Given the description of an element on the screen output the (x, y) to click on. 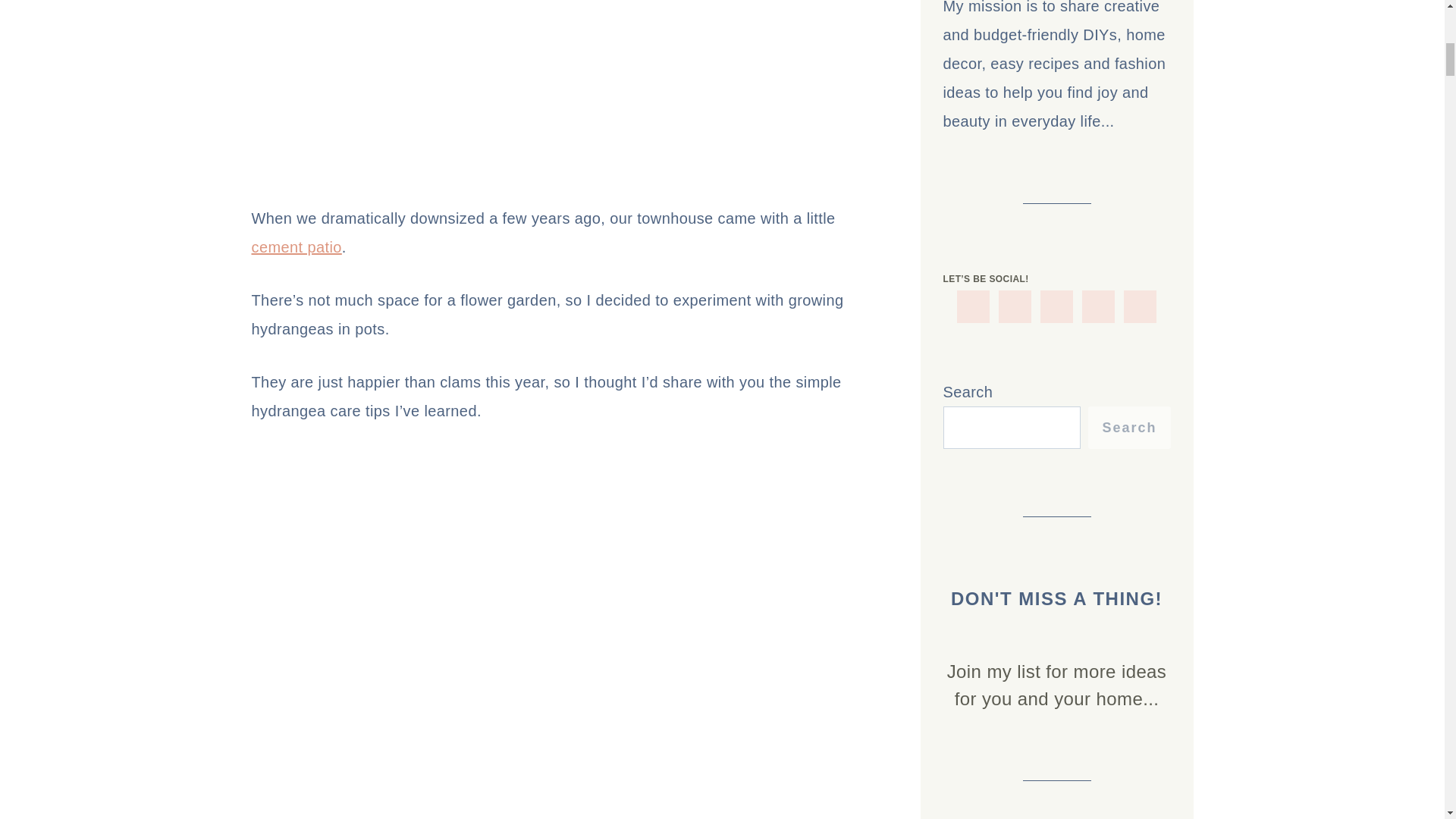
cement patio (296, 247)
